Given the description of an element on the screen output the (x, y) to click on. 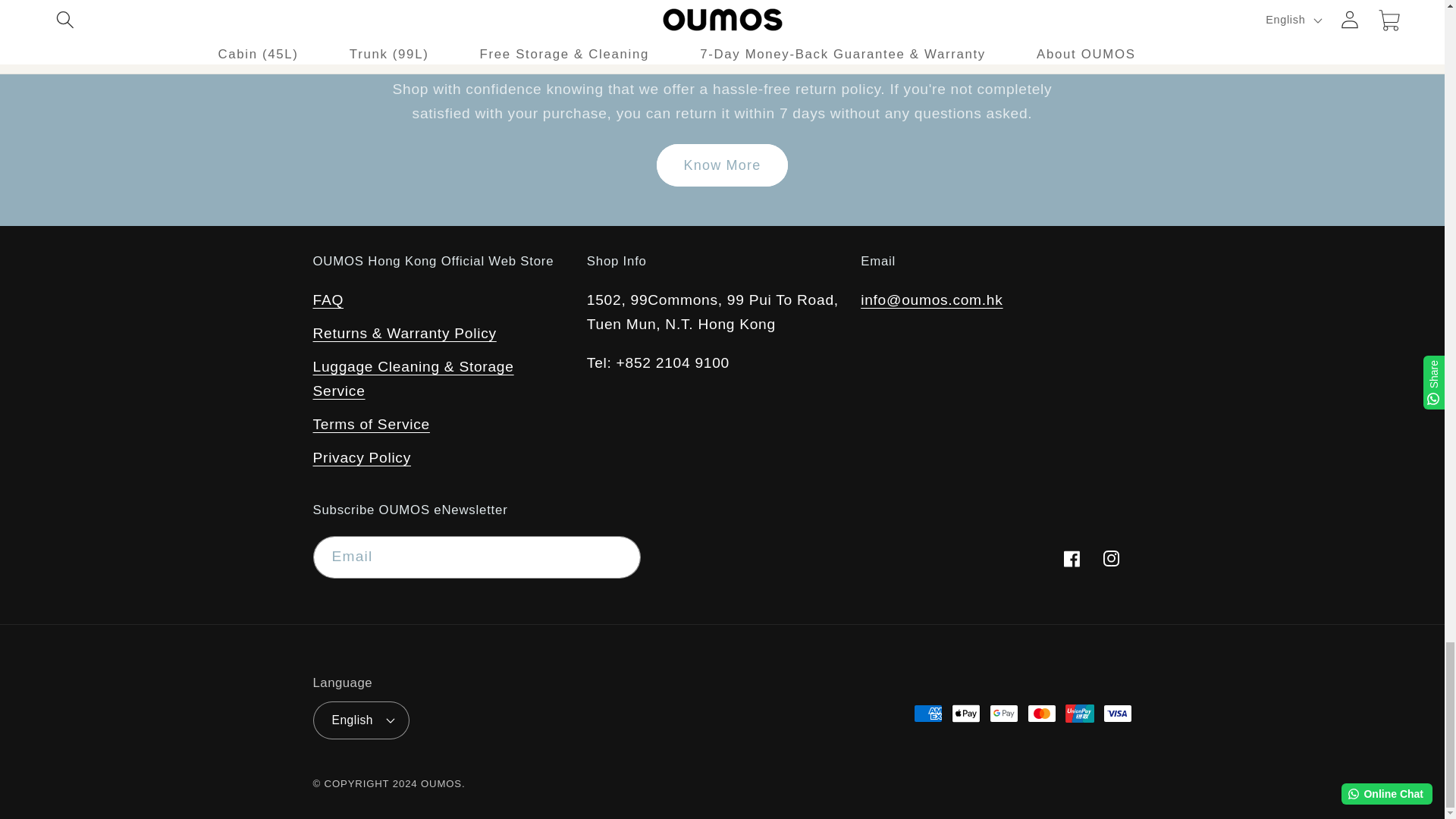
Privacy Policy (361, 458)
Terms of Service (371, 424)
FAQ (328, 302)
Know More (722, 165)
